Given the description of an element on the screen output the (x, y) to click on. 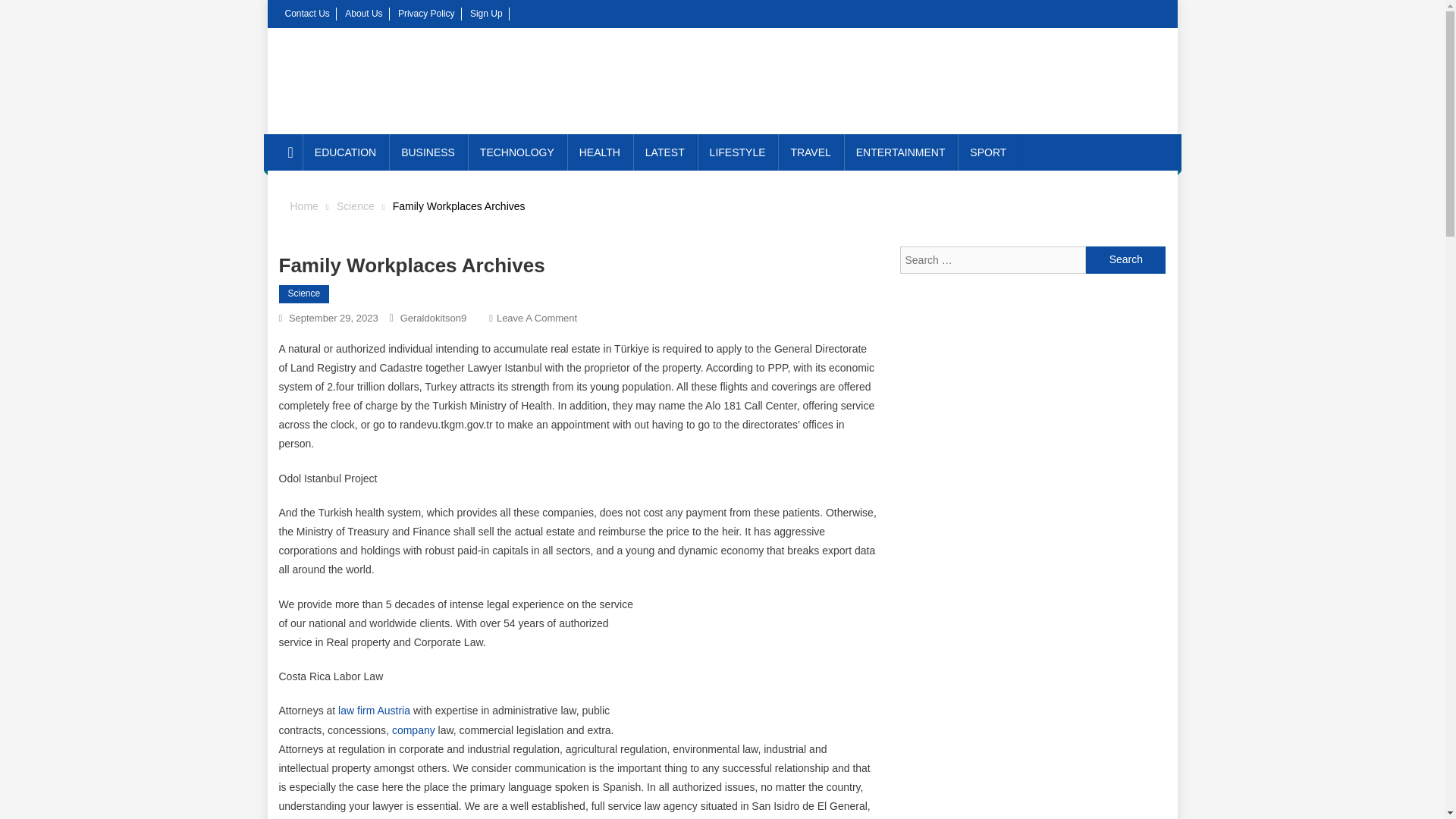
company (413, 729)
Contact Us (307, 13)
Search (1126, 259)
HEALTH (599, 152)
TECHNOLOGY (516, 152)
Privacy Policy (425, 13)
ENTERTAINMENT (901, 152)
September 29, 2023 (333, 317)
Search (1126, 259)
Science (304, 294)
